Given the description of an element on the screen output the (x, y) to click on. 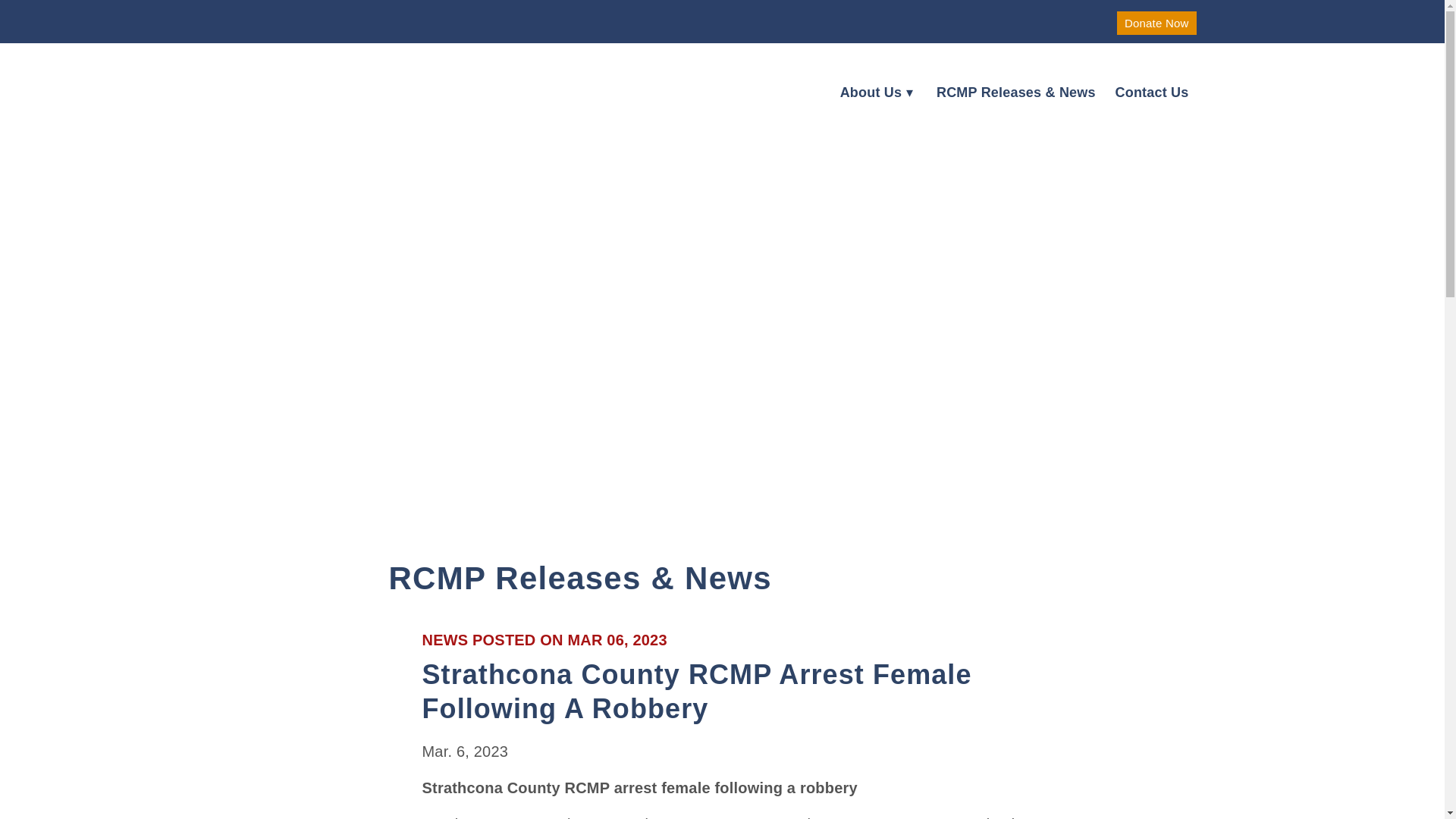
About Us (871, 99)
Donate Now (1156, 23)
Contact Us (1150, 99)
Strathcona County Crime Watch (324, 84)
